Given the description of an element on the screen output the (x, y) to click on. 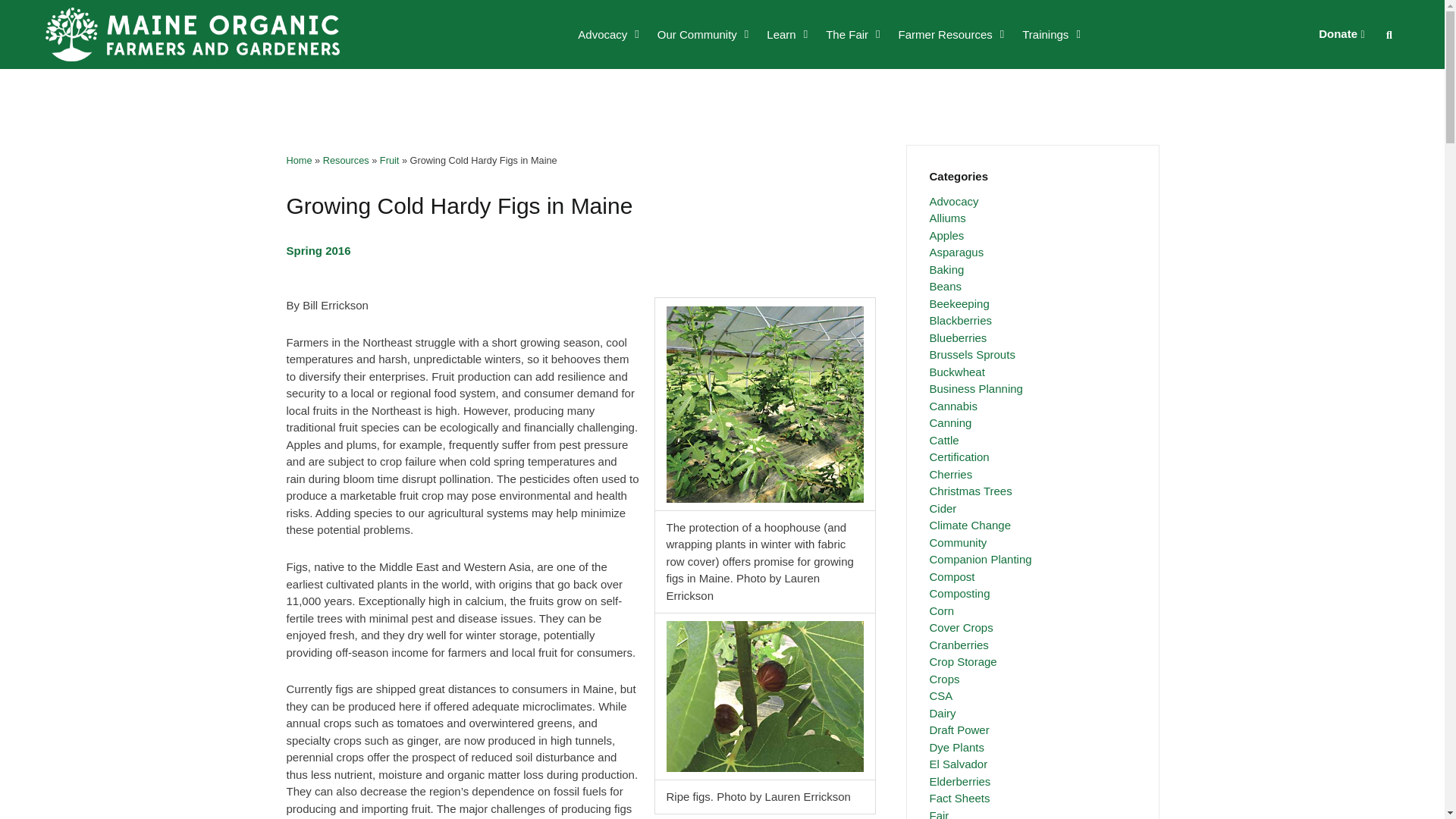
Ripe figs. Photo by Lauren Errickson (764, 695)
Our Community (702, 33)
Advocacy (608, 33)
